Given the description of an element on the screen output the (x, y) to click on. 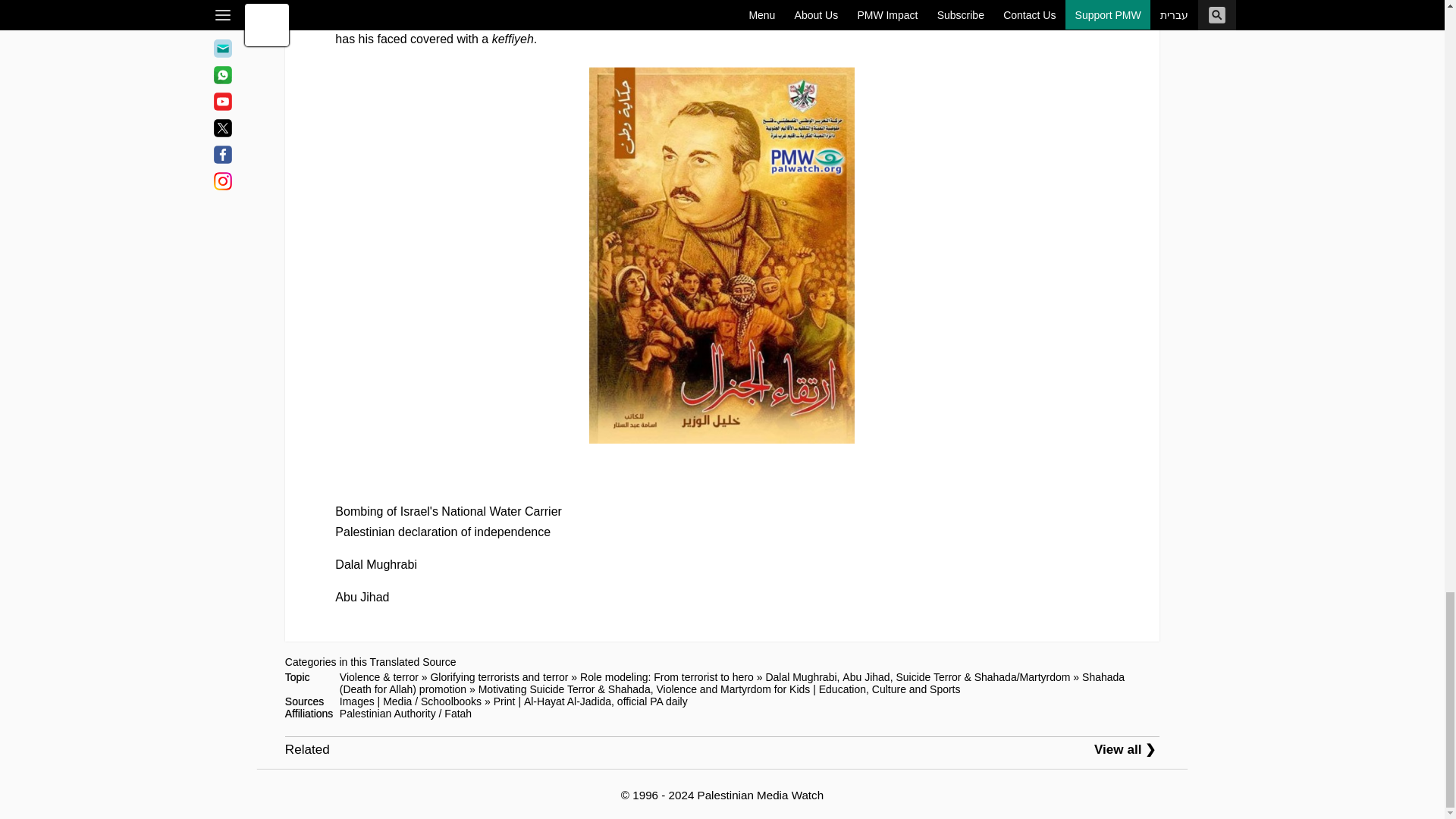
Images (356, 701)
Violence and Martyrdom for Kids (732, 689)
Palestinian declaration of independence (442, 531)
Abu Jihad (866, 676)
Abu Jihad (361, 596)
Role modeling: From terrorist to hero (666, 676)
Bombing of Israel's National Water Carrier (448, 511)
Dalal Mughrabi (800, 676)
Education, Culture and Sports (889, 689)
Dalal Mughrabi (375, 563)
